Given the description of an element on the screen output the (x, y) to click on. 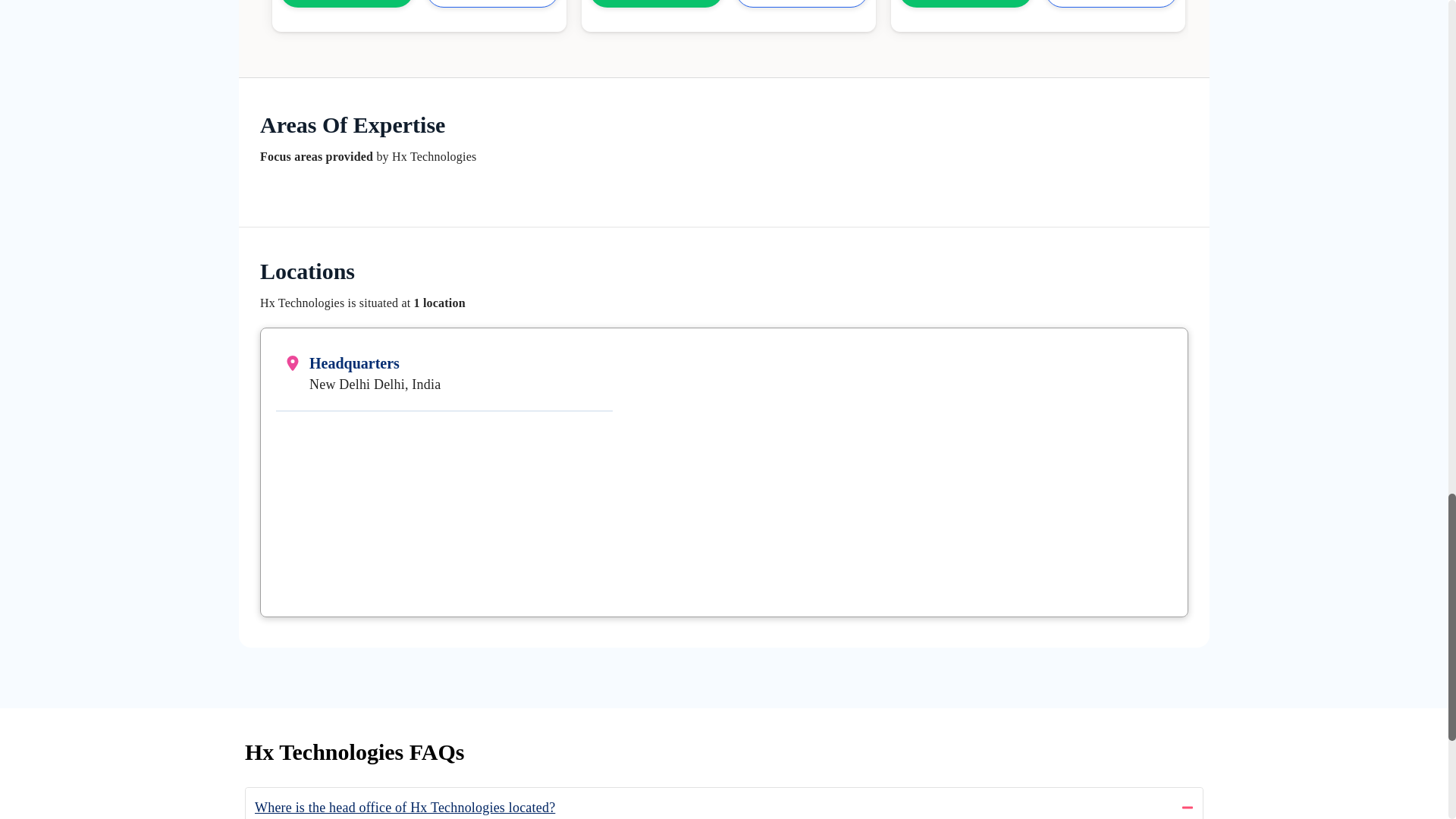
View Profile (492, 3)
View Profile (801, 3)
Get A Quote (656, 3)
View Profile (1111, 3)
Get A Quote (346, 3)
Get A Quote (965, 3)
